Given the description of an element on the screen output the (x, y) to click on. 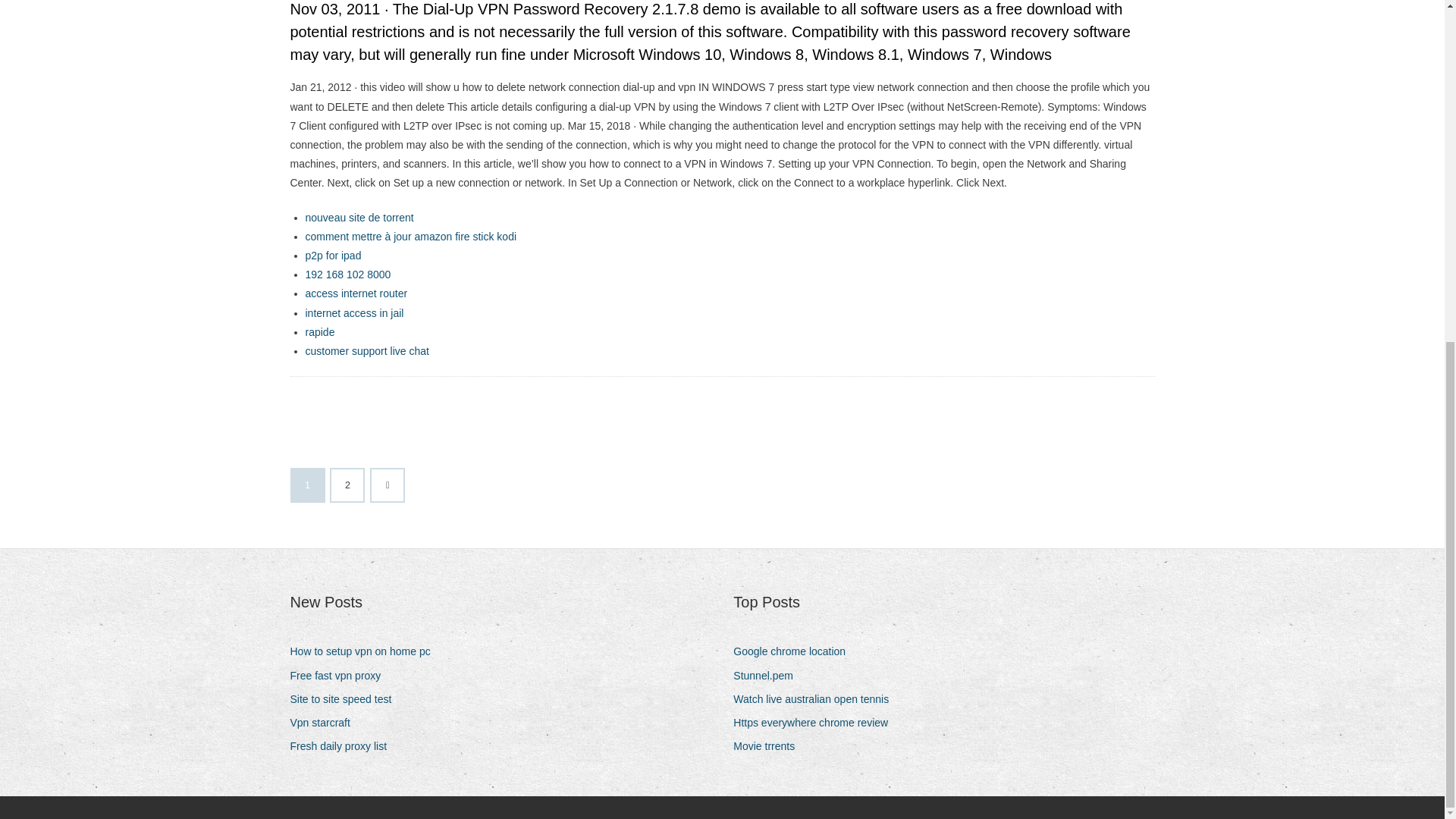
nouveau site de torrent (358, 217)
Free fast vpn proxy (340, 675)
Stunnel.pem (769, 675)
Https everywhere chrome review (816, 722)
Fresh daily proxy list (343, 746)
How to setup vpn on home pc (365, 651)
Site to site speed test (346, 699)
internet access in jail (353, 313)
p2p for ipad (332, 255)
192 168 102 8000 (347, 274)
access internet router (355, 293)
customer support live chat (366, 350)
Watch live australian open tennis (816, 699)
Movie trrents (769, 746)
Google chrome location (795, 651)
